Given the description of an element on the screen output the (x, y) to click on. 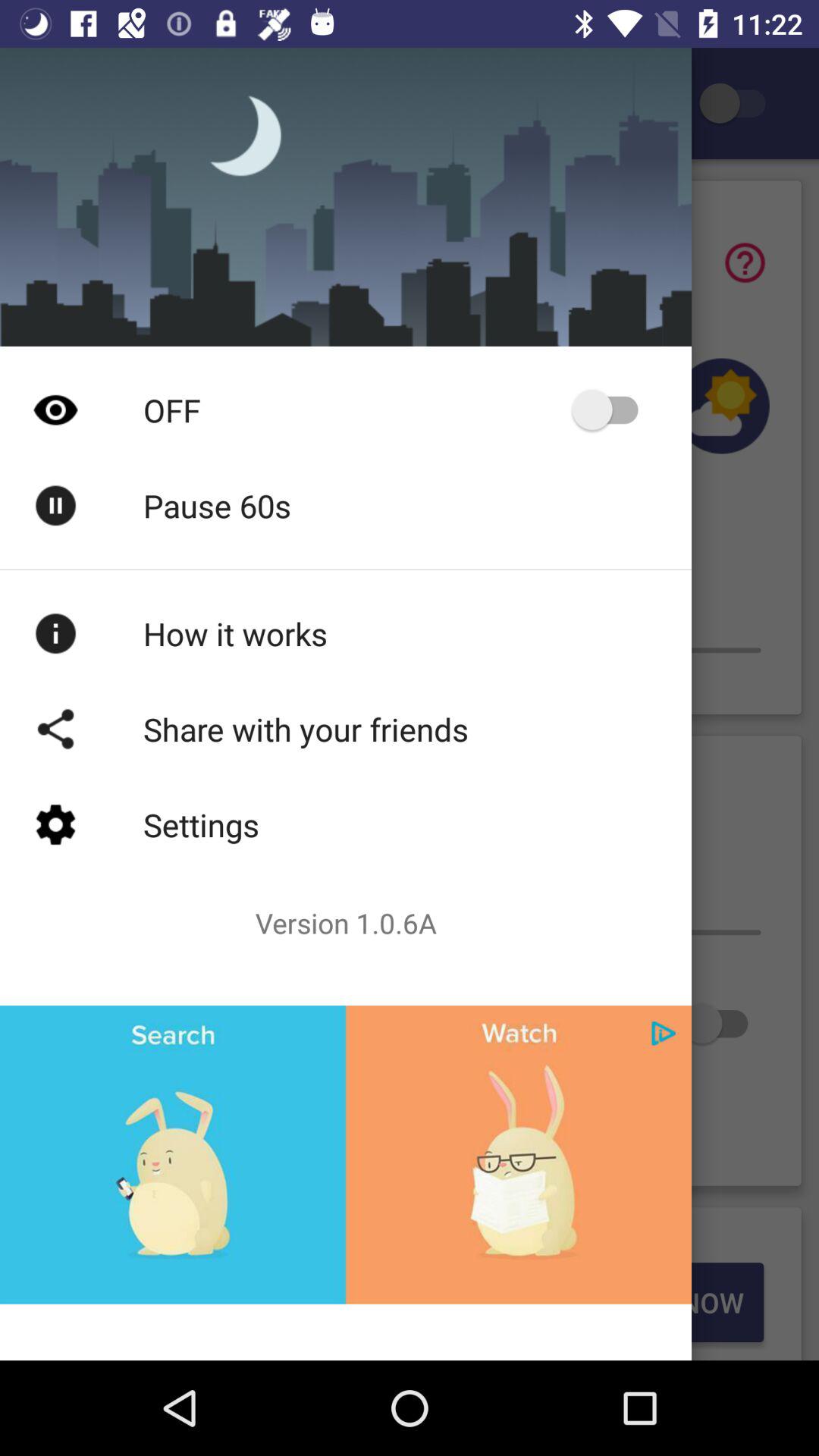
toggle autoplay option (612, 409)
